Given the description of an element on the screen output the (x, y) to click on. 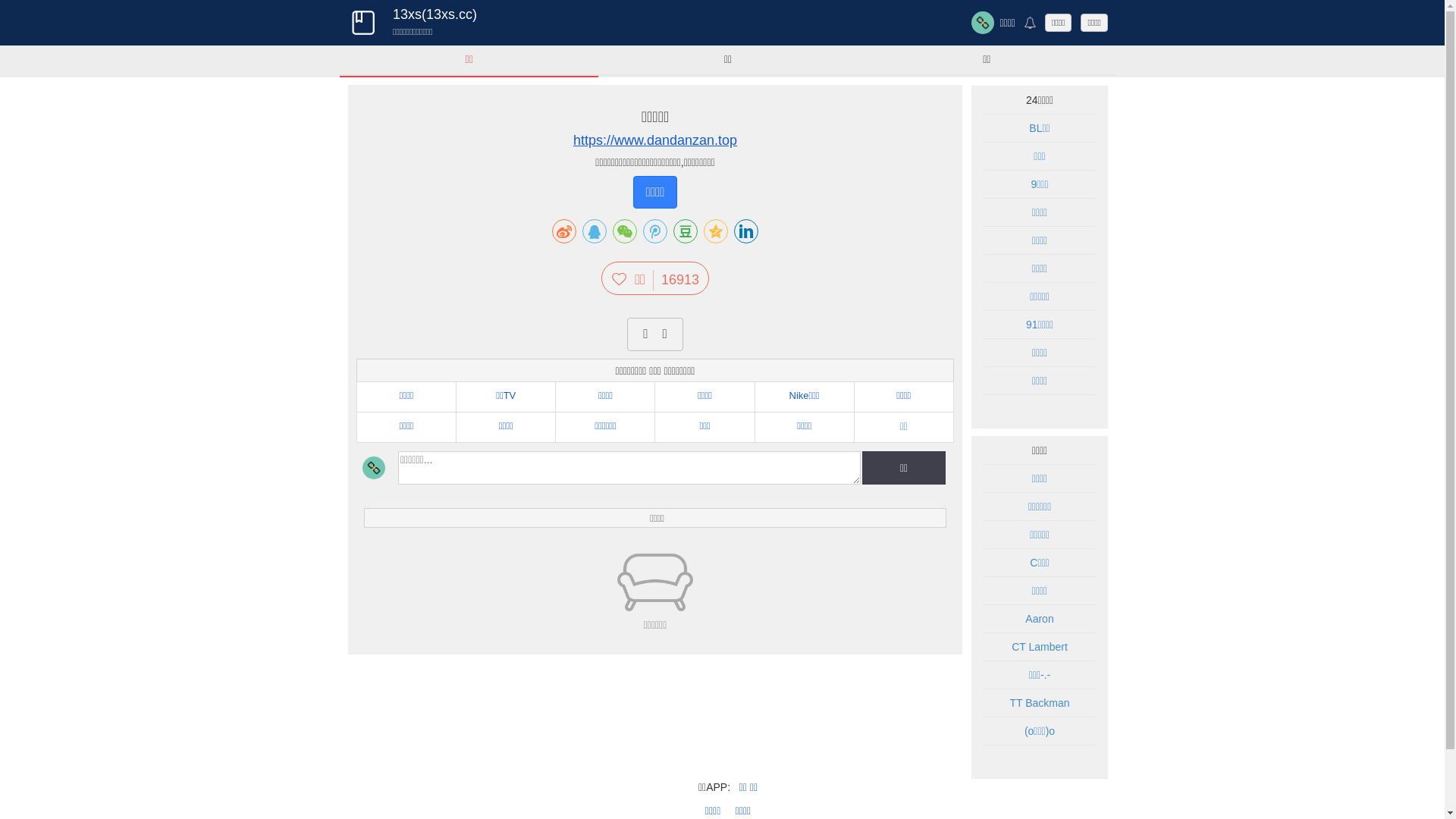
https://www.dandanzan.top Element type: text (654, 140)
13xs(13xs.cc) Element type: text (434, 14)
13xs(13xs.cc) Element type: hover (362, 22)
CT Lambert Element type: text (1039, 646)
Aaron Element type: text (1039, 618)
TT Backman Element type: text (1039, 702)
16913 Element type: text (676, 279)
